Given the description of an element on the screen output the (x, y) to click on. 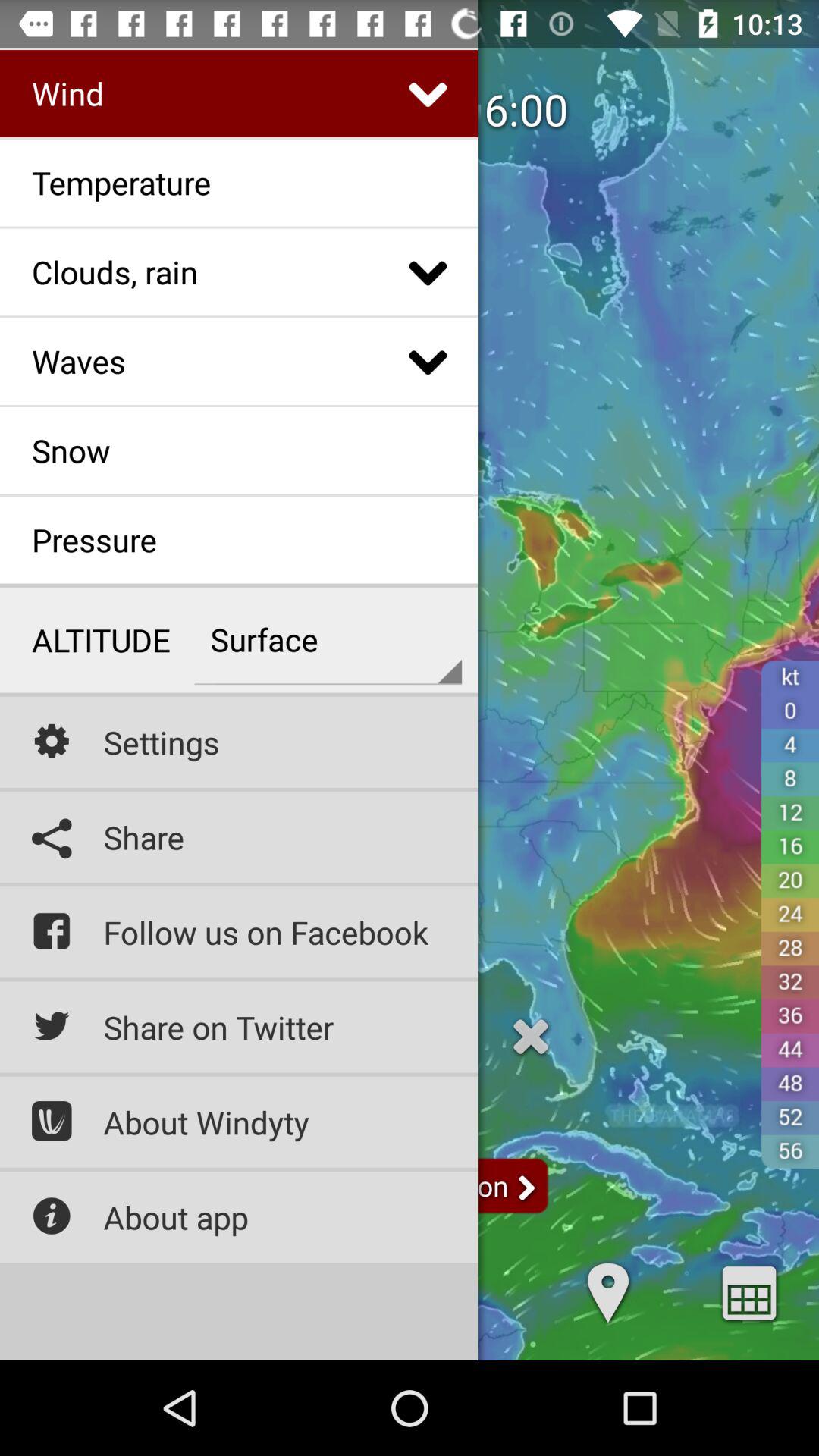
click on the right scroll bar (526, 1189)
